Given the description of an element on the screen output the (x, y) to click on. 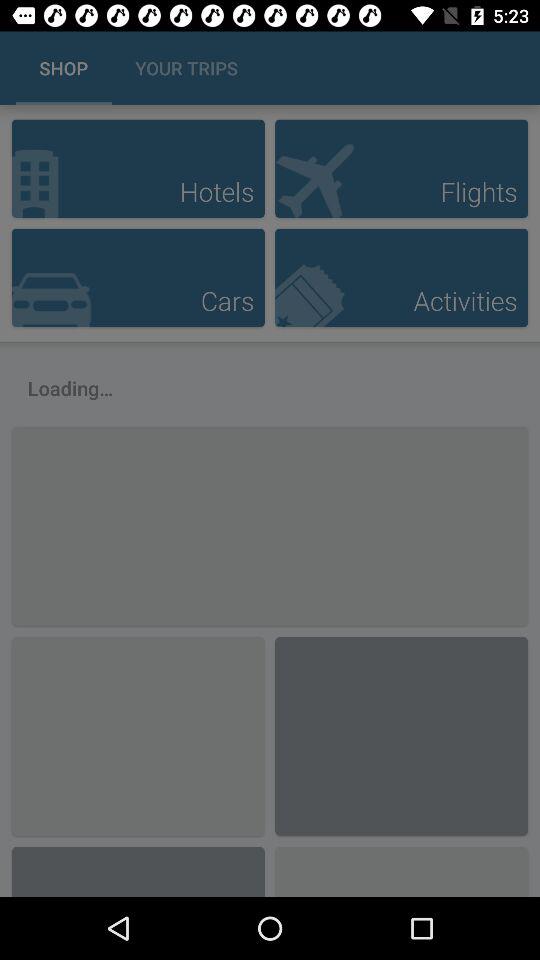
choose flight option (401, 168)
